Given the description of an element on the screen output the (x, y) to click on. 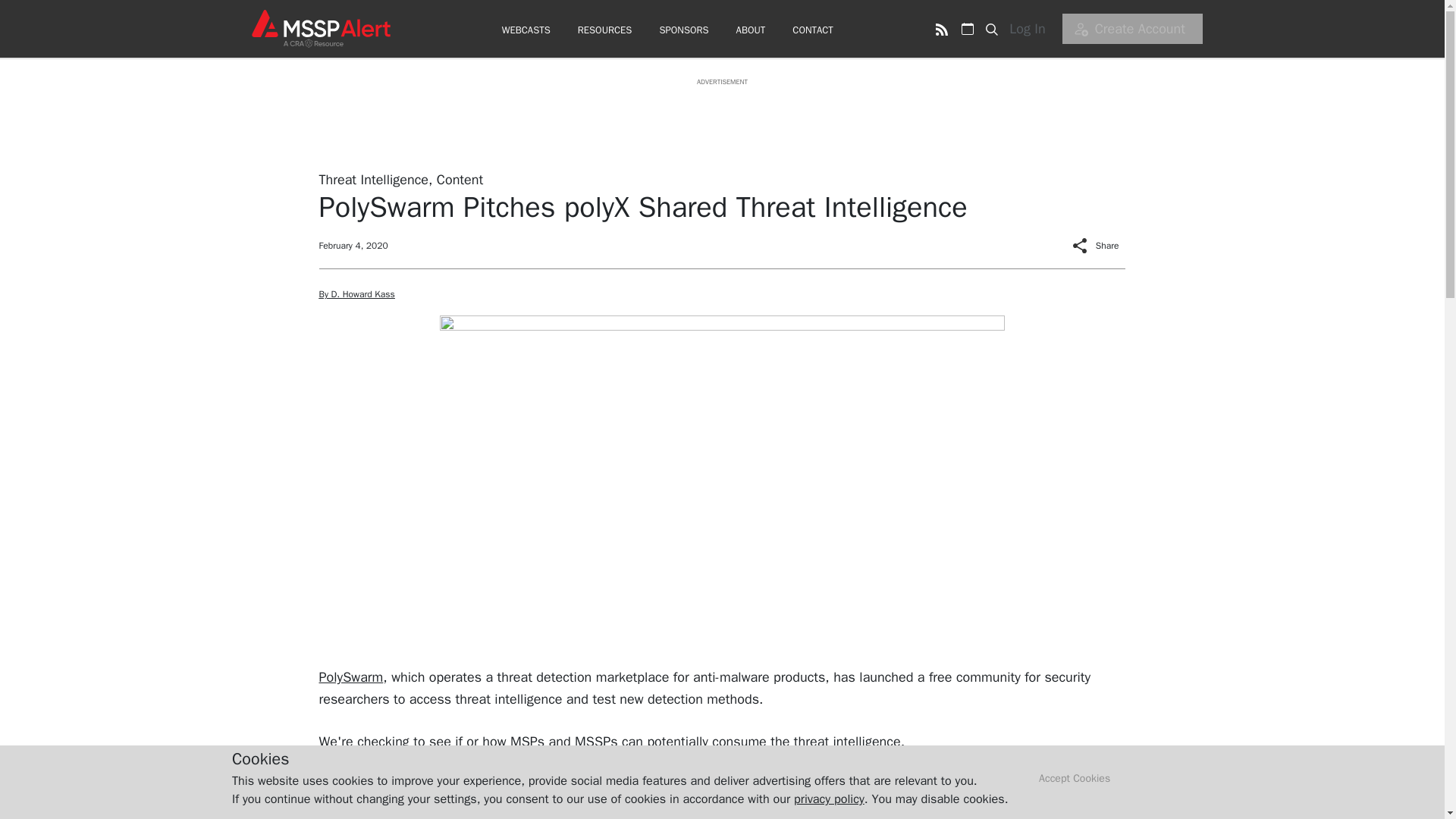
SPONSORS (683, 30)
Content (459, 179)
By D. Howard Kass (356, 294)
privacy policy (828, 798)
Accept Cookies (1075, 778)
RESOURCES (604, 30)
3rd party ad content (721, 121)
Create Account (1132, 29)
CONTACT (812, 30)
View Cybersecurity Conference Calendar (967, 28)
Threat Intelligence (373, 179)
Log In (1032, 29)
MSSP Alert (319, 27)
ABOUT (750, 30)
WEBCASTS (526, 30)
